Given the description of an element on the screen output the (x, y) to click on. 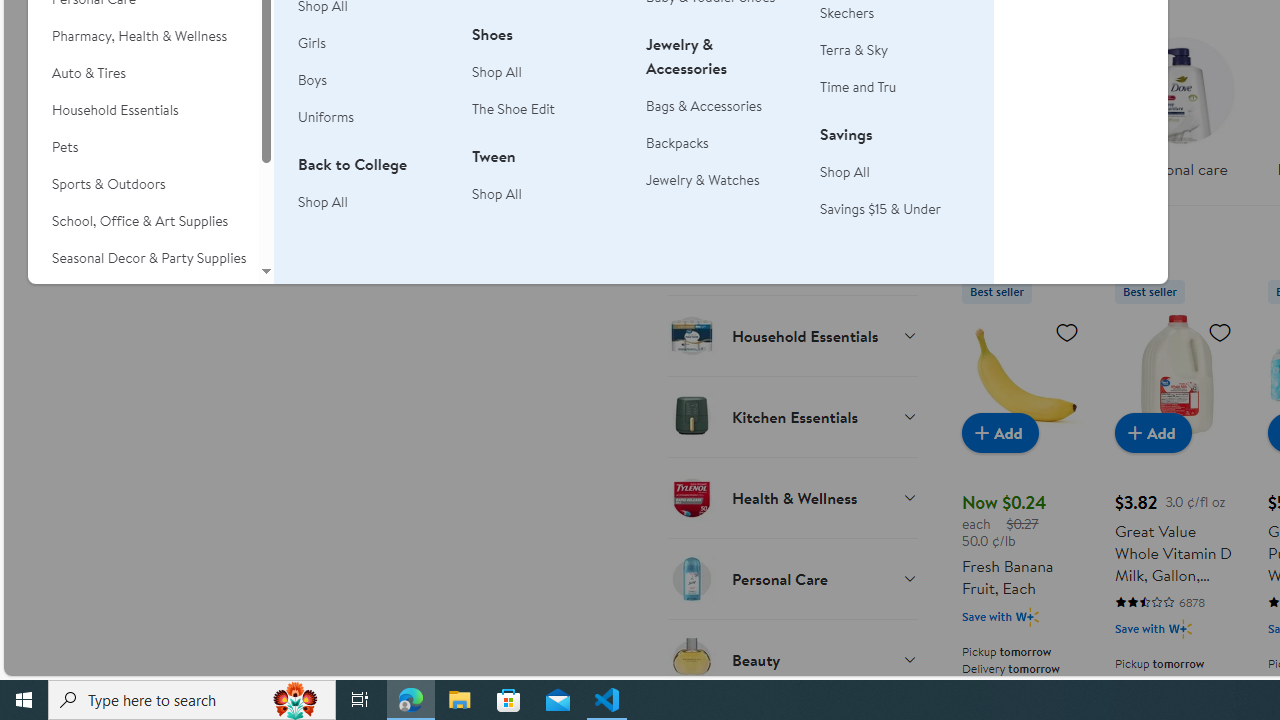
Auto & Tires (143, 73)
Beverages (792, 92)
Shop All (895, 172)
Savings $15 & Under (880, 208)
ShoesShop AllThe Shoe Edit (547, 83)
Auto & Tires (143, 73)
Health & Wellness (792, 497)
Sports & Outdoors (143, 184)
Household Essentials (143, 110)
Time and Tru (858, 87)
